Given the description of an element on the screen output the (x, y) to click on. 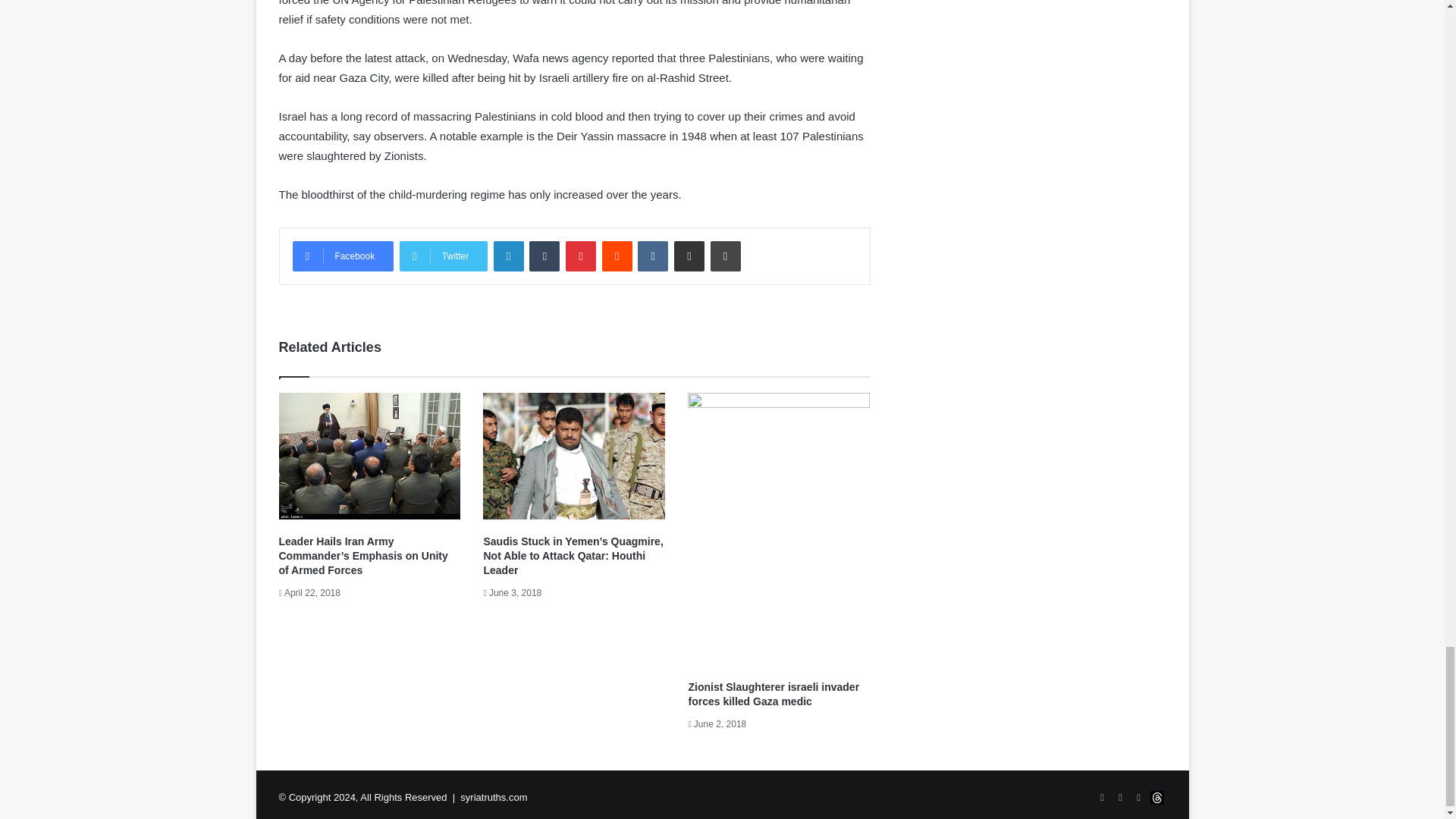
Facebook (343, 255)
LinkedIn (508, 255)
Share via Email (689, 255)
Print (725, 255)
Tumblr (544, 255)
Pinterest (580, 255)
Twitter (442, 255)
Reddit (616, 255)
VKontakte (652, 255)
